Given the description of an element on the screen output the (x, y) to click on. 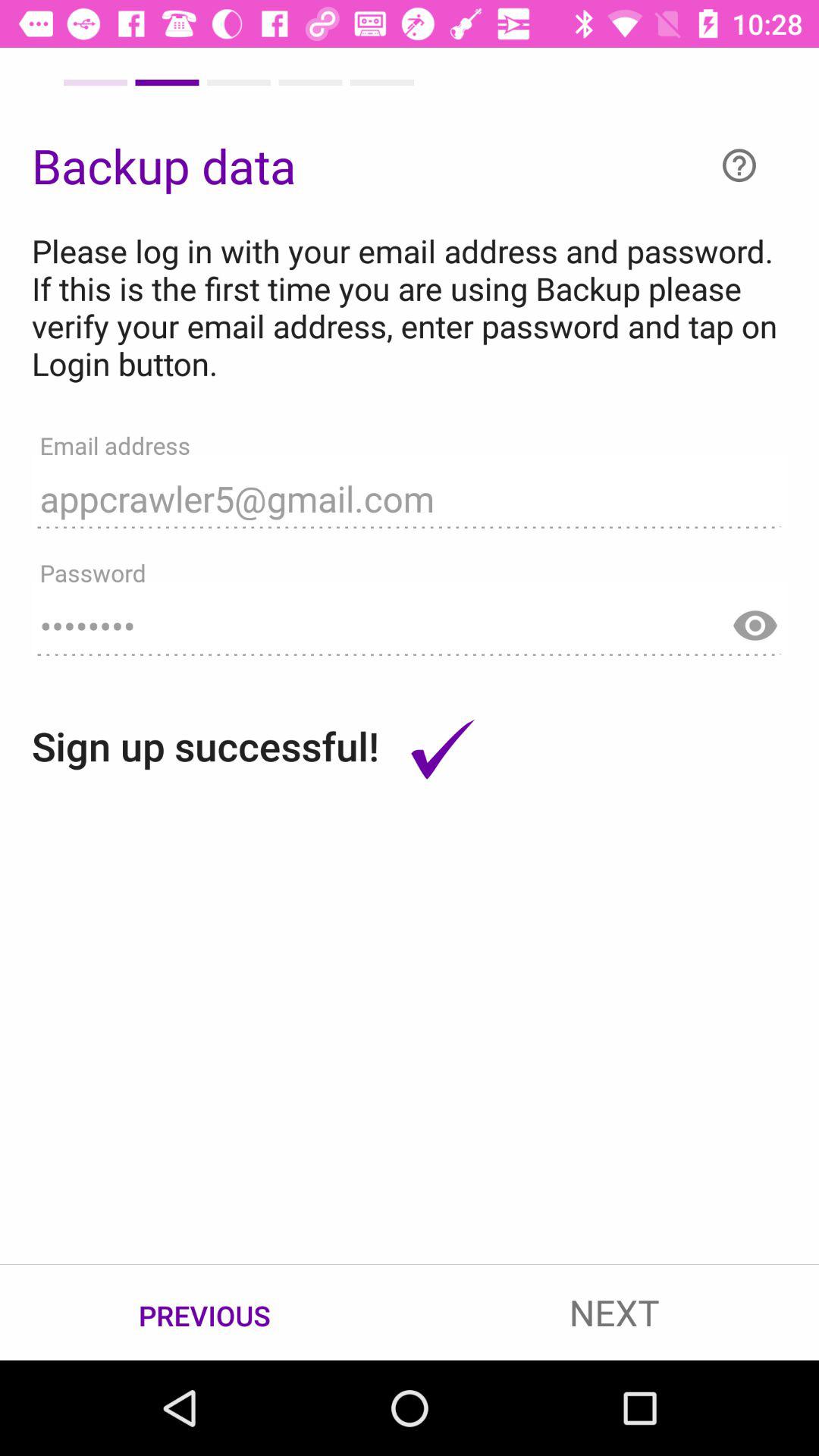
turn off item at the bottom left corner (204, 1313)
